Given the description of an element on the screen output the (x, y) to click on. 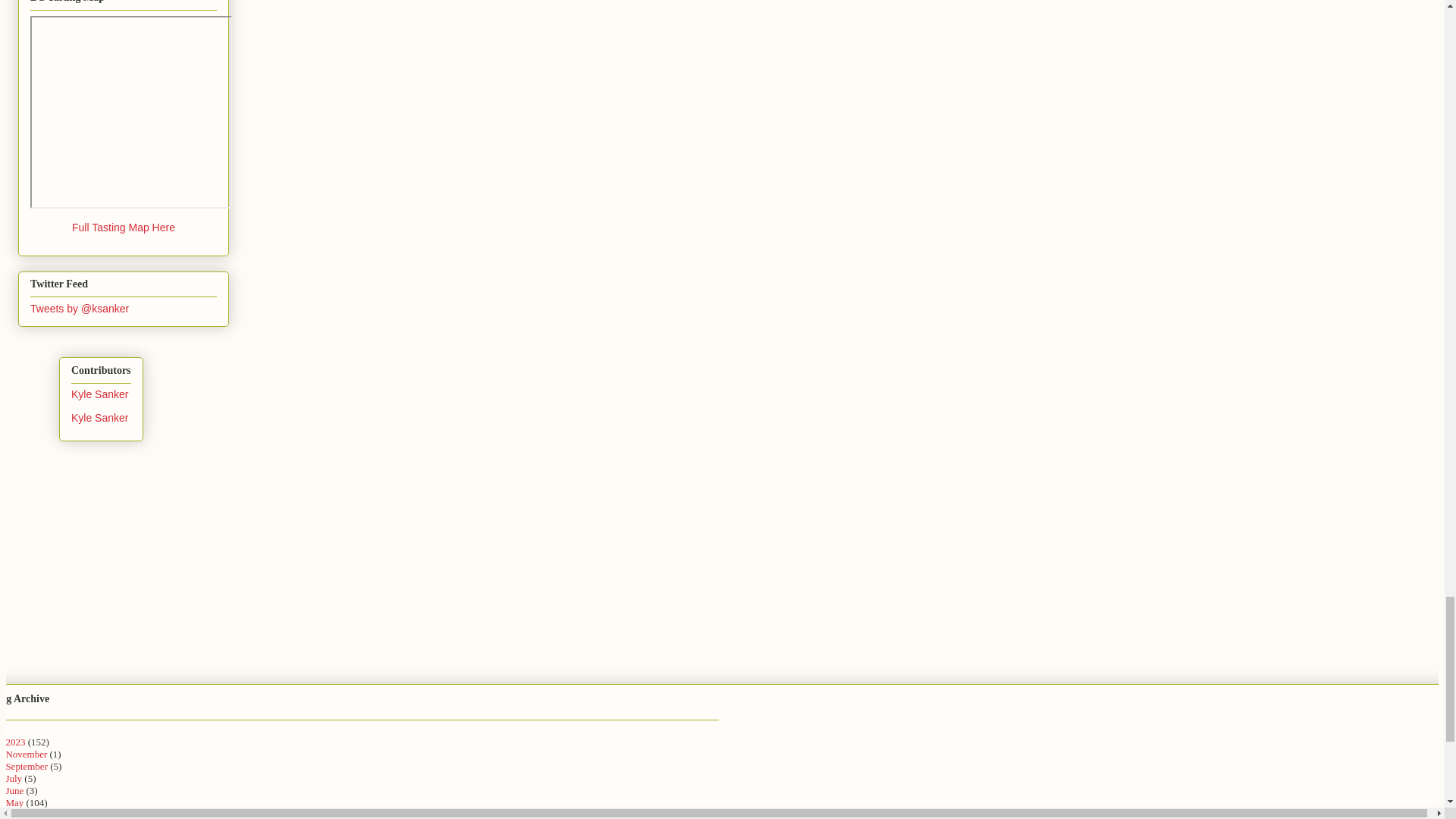
Full Tasting Map Here (123, 227)
Kyle Sanker (99, 394)
